Given the description of an element on the screen output the (x, y) to click on. 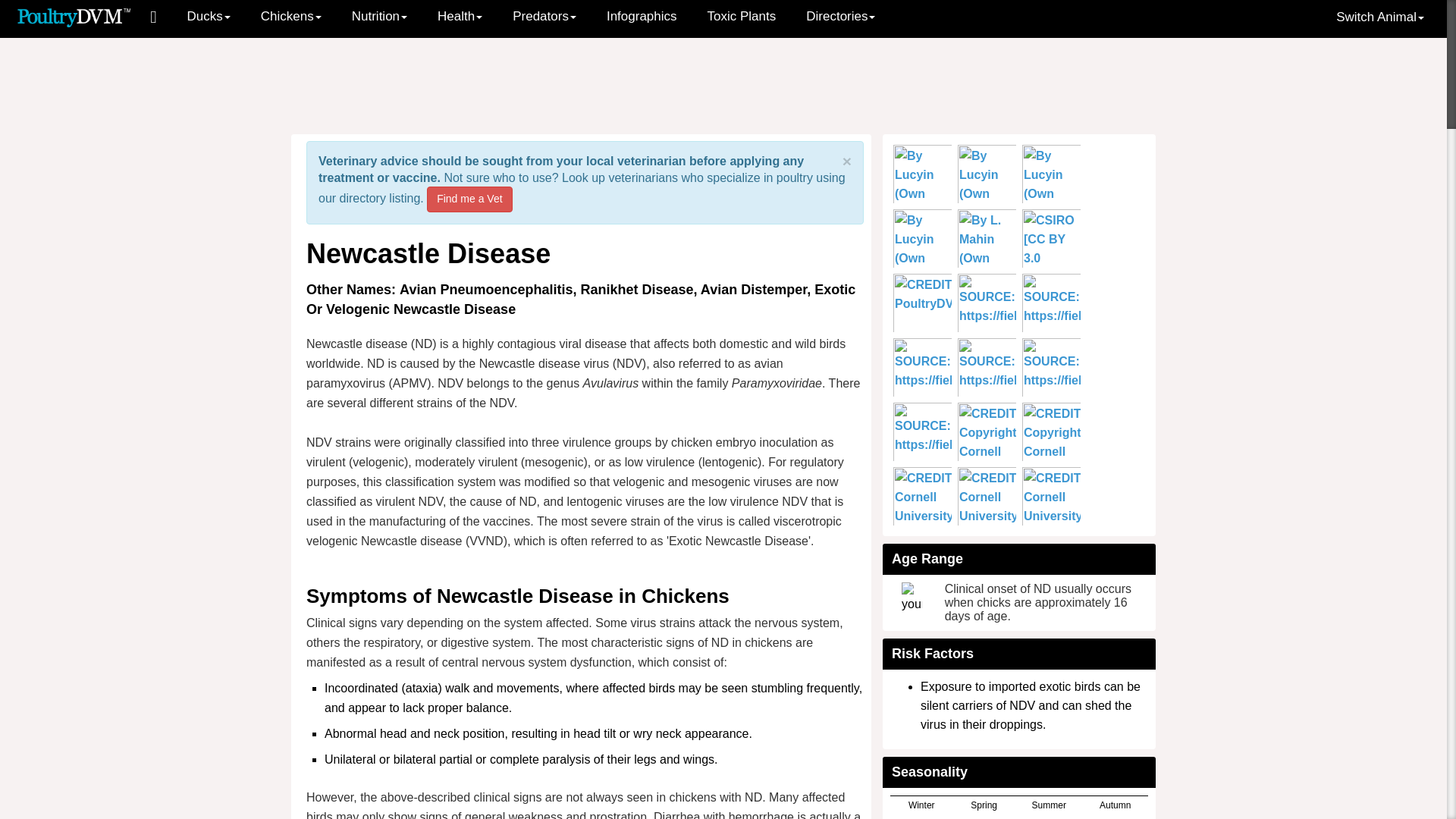
PoultryDVM Logo (74, 15)
Switch Animal (1379, 17)
Toxic Plants (742, 16)
Predators (544, 16)
Find me a Vet (469, 199)
Infographics (642, 16)
Ducks (208, 16)
Chickens (291, 16)
Directories (839, 16)
Chicken and Duck Infographics (642, 16)
Health (459, 16)
Toxic Plants to Chickens (742, 16)
Nutrition (379, 16)
